Given the description of an element on the screen output the (x, y) to click on. 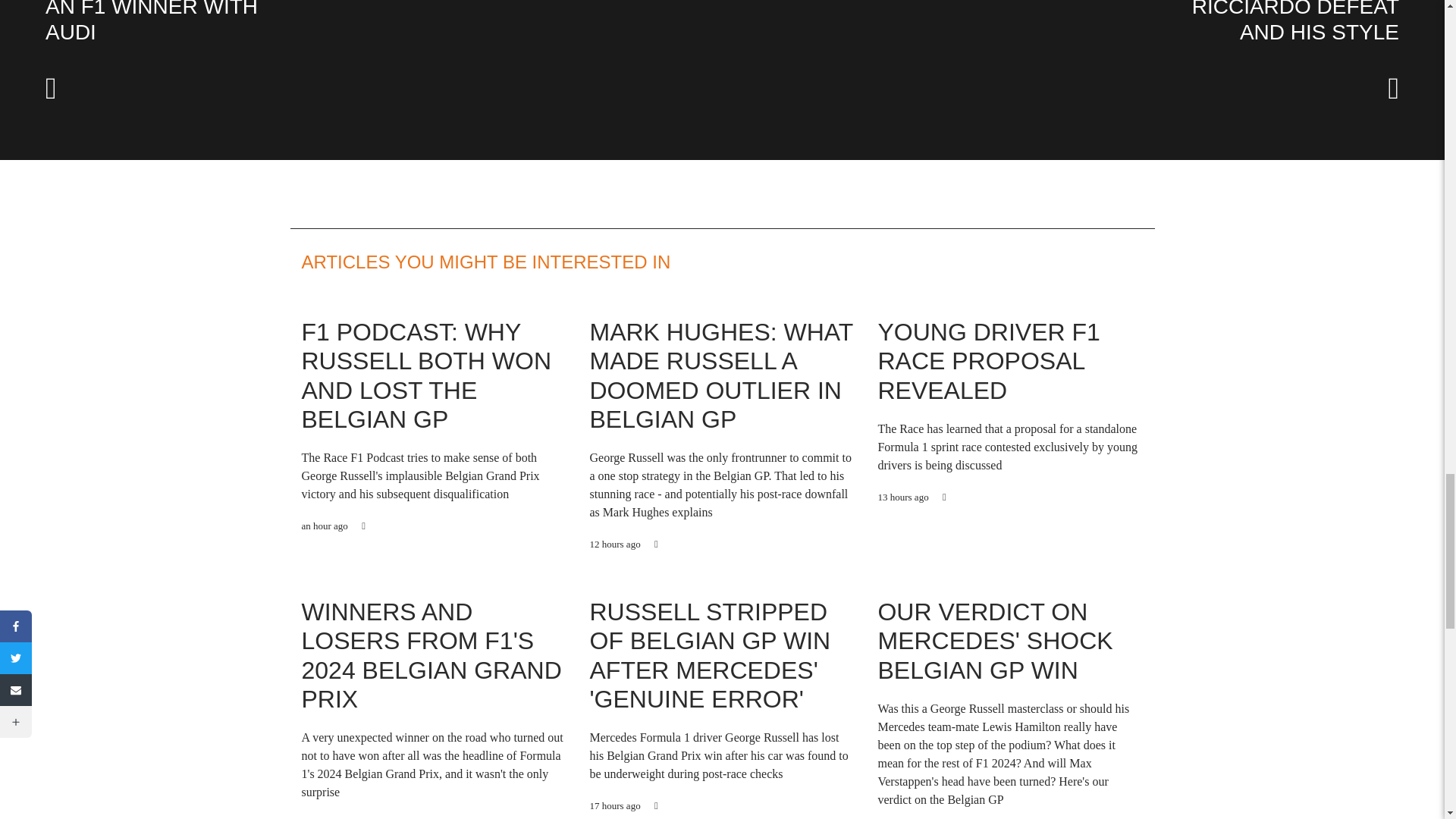
YOUNG DRIVER F1 RACE PROPOSAL REVEALED (988, 361)
F1 PODCAST: WHY RUSSELL BOTH WON AND LOST THE BELGIAN GP (426, 375)
WINNERS AND LOSERS FROM F1'S 2024 BELGIAN GRAND PRIX (431, 655)
WHAT SAUBER NEEDS TO DO TO BE AN F1 WINNER WITH AUDI (152, 22)
